Given the description of an element on the screen output the (x, y) to click on. 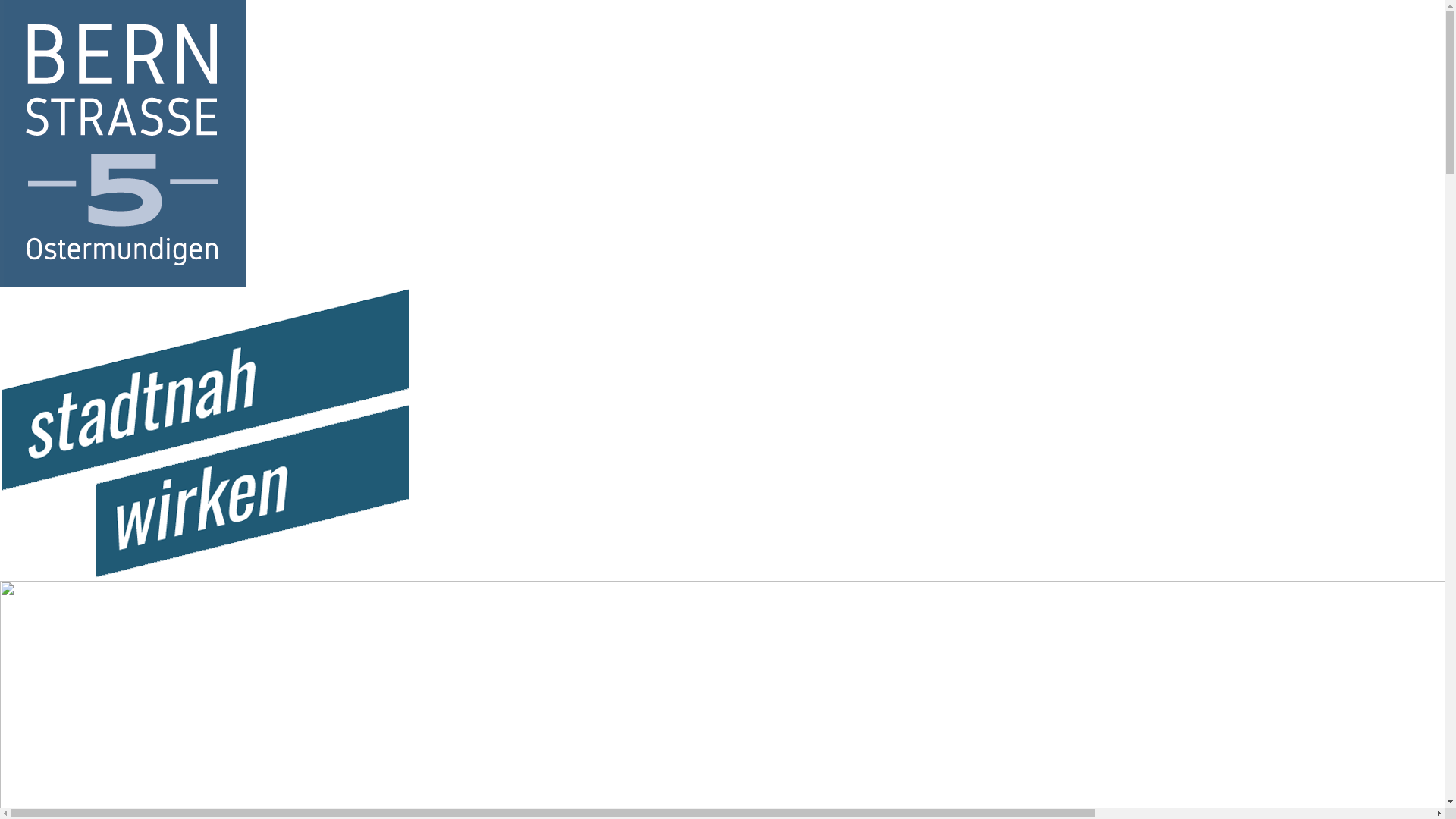
Bernstrasse 5, Ostermundigen Element type: hover (122, 283)
